Given the description of an element on the screen output the (x, y) to click on. 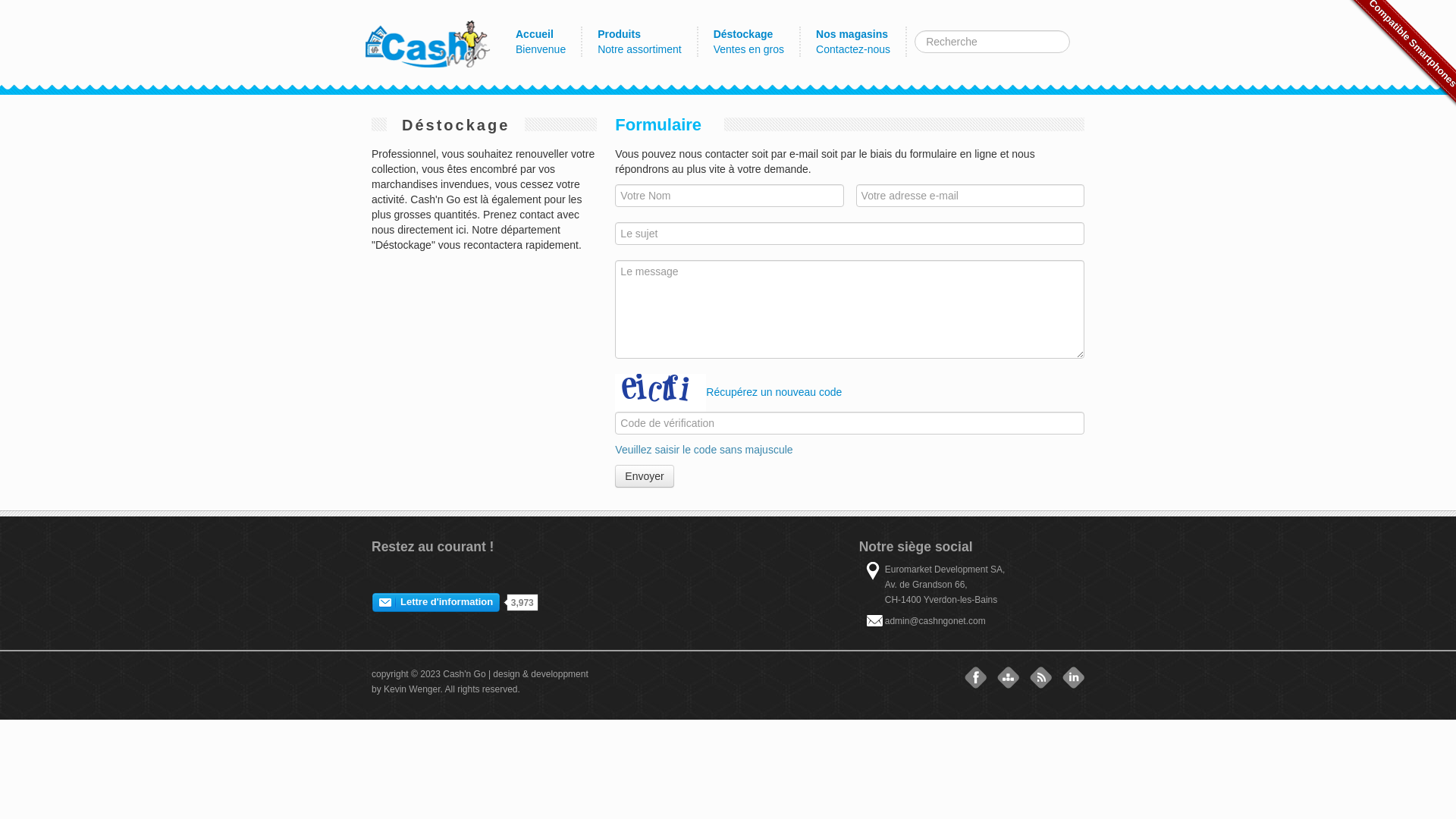
admin@cashngonet.com Element type: text (934, 620)
Produits
Notre assortiment Element type: text (639, 41)
Nos magasins
Contactez-nous Element type: text (853, 41)
Preview Element type: hover (454, 602)
Envoyer Element type: text (644, 475)
Accueil
Bienvenue Element type: text (541, 41)
